Given the description of an element on the screen output the (x, y) to click on. 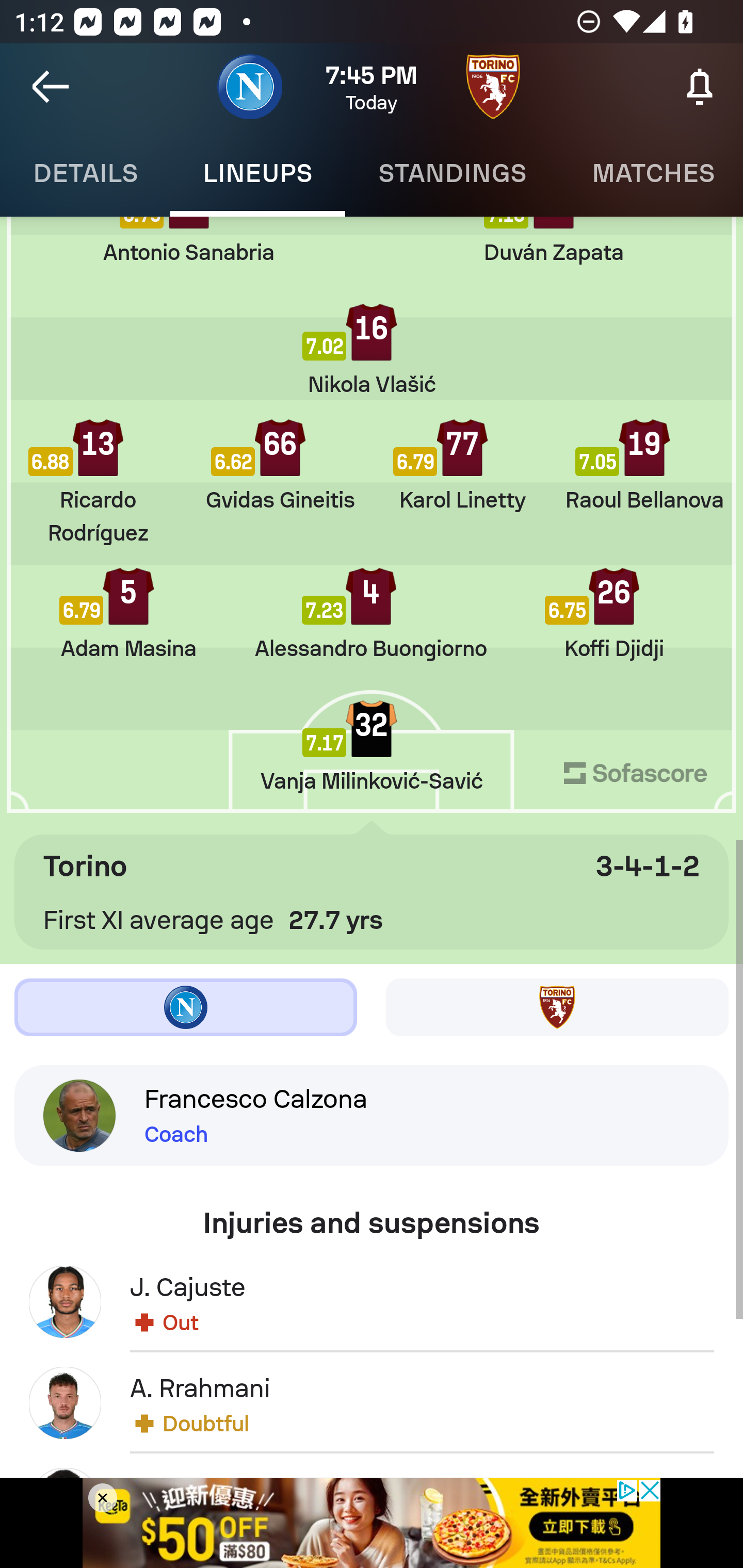
Navigate up (50, 86)
Details DETAILS (85, 173)
Standings STANDINGS (451, 173)
Matches MATCHES (650, 173)
Antonio Sanabria (188, 240)
Duván Zapata (553, 240)
Nikola Vlašić (371, 349)
Ricardo Rodríguez (98, 481)
Gvidas Gineitis (280, 465)
Karol Linetty (461, 465)
Raoul Bellanova (644, 465)
Adam Masina (128, 614)
Alessandro Buongiorno (370, 614)
Koffi Djidji (613, 614)
Vanja Milinković-Savić (371, 746)
Francesco Calzona Coach (371, 1115)
J. Cajuste Out (371, 1301)
A. Rrahmani Doubtful (371, 1402)
o86KnEM_1693809238275_0 (371, 1522)
